Given the description of an element on the screen output the (x, y) to click on. 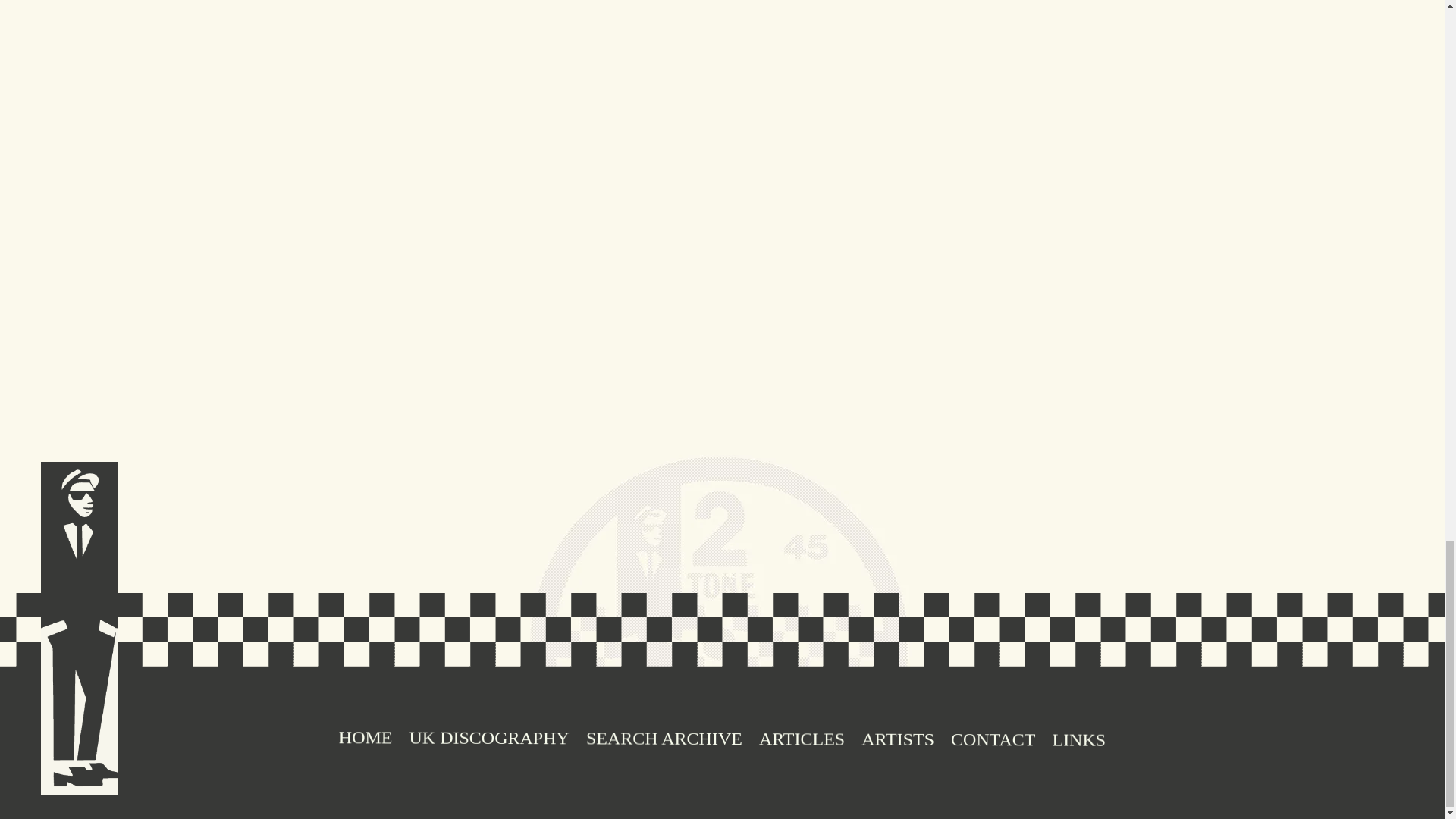
ARTICLES (712, 97)
HOME (712, 301)
SEARCH ARCHIVE (801, 741)
CONTACT (366, 740)
LINKS (664, 740)
UK DISCOGRAPHY (500, 97)
